Given the description of an element on the screen output the (x, y) to click on. 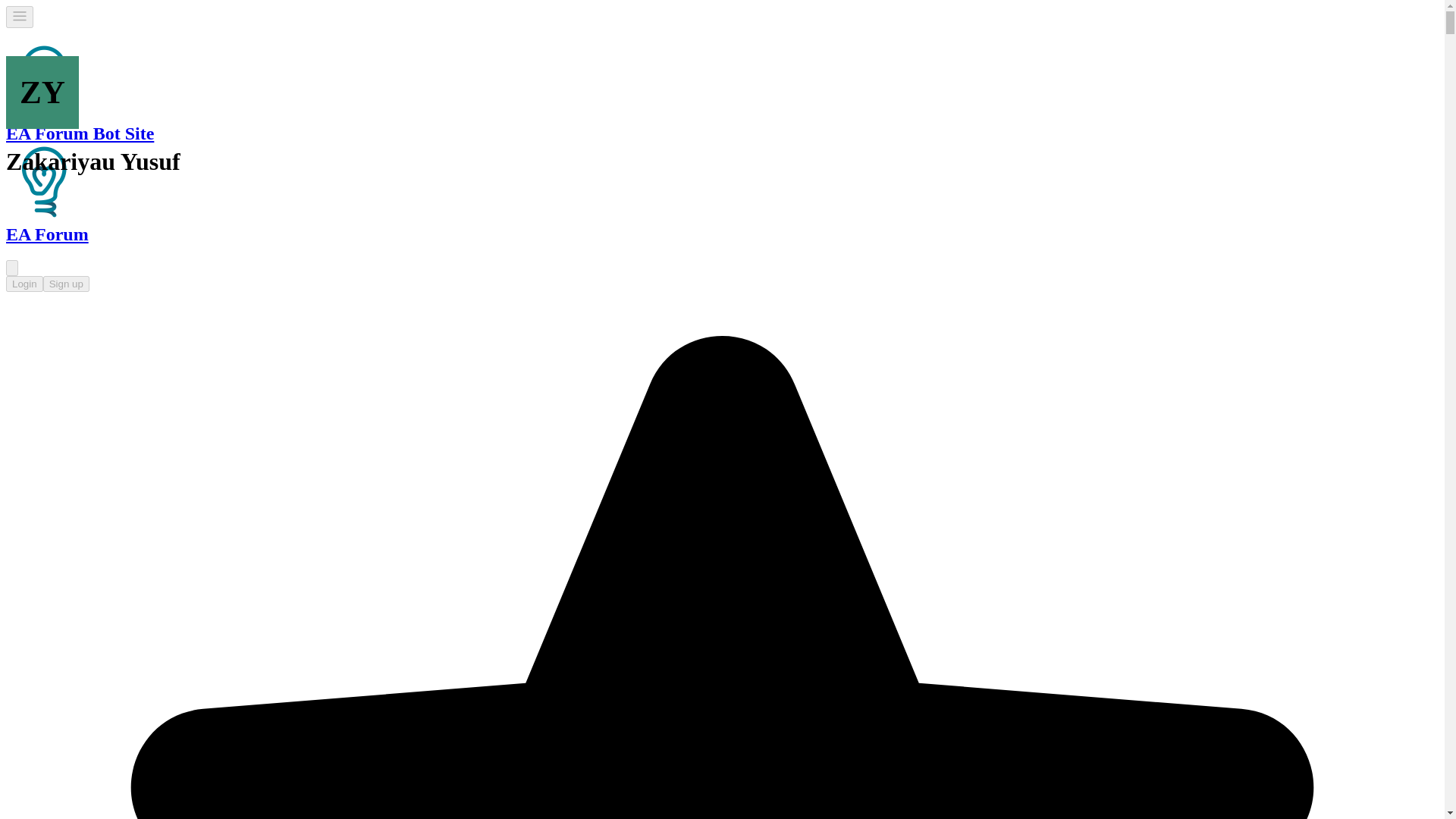
EA Forum Bot Site (43, 80)
Sign up (65, 283)
EA Forum Bot Site (43, 182)
Login (24, 283)
ZY (41, 92)
